Given the description of an element on the screen output the (x, y) to click on. 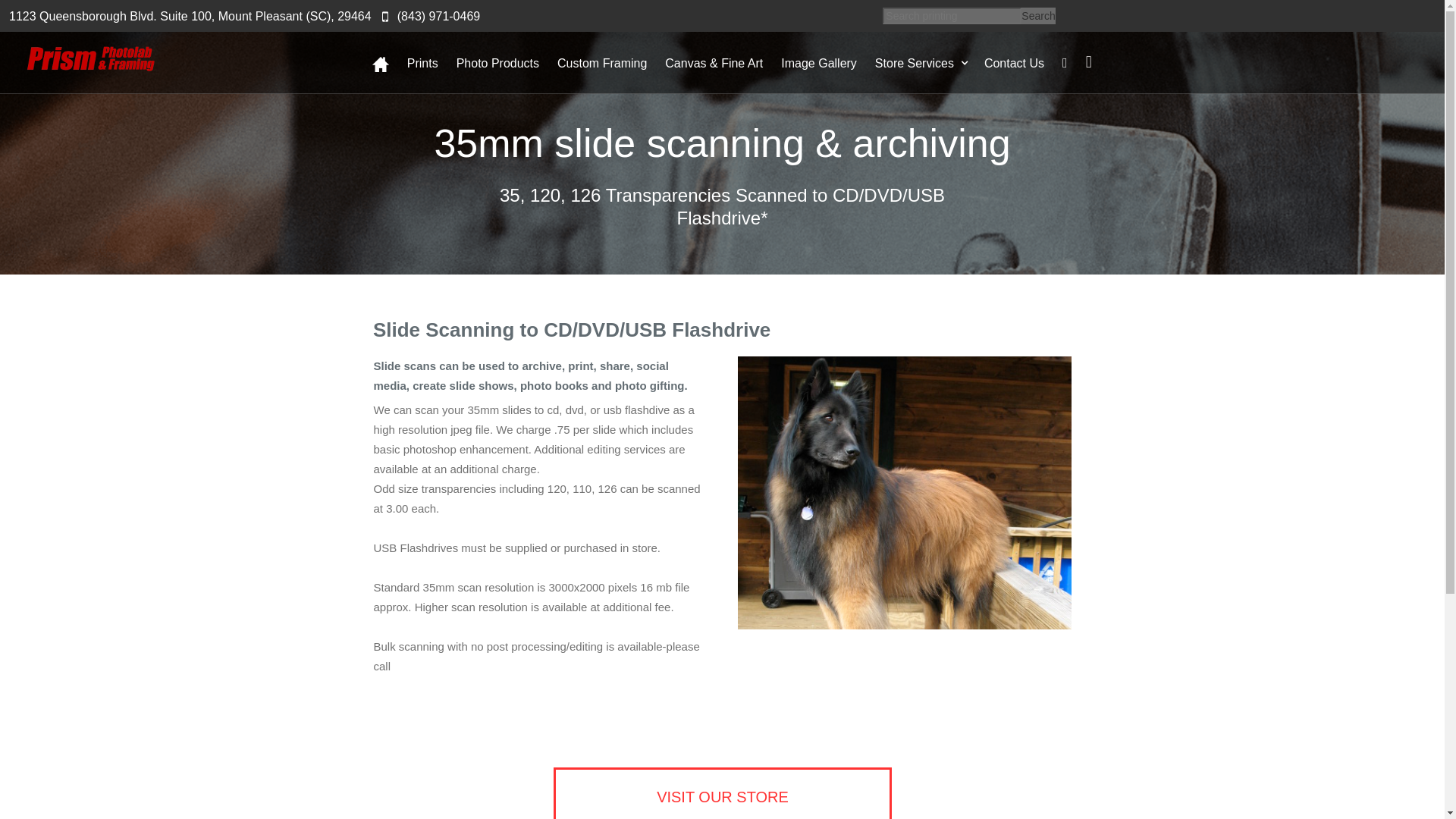
VISIT OUR STORE (722, 793)
Search (1038, 15)
Contact Us (1023, 65)
Photo Products (507, 65)
Prints (432, 65)
Image Gallery (827, 65)
Custom Framing (611, 65)
